Given the description of an element on the screen output the (x, y) to click on. 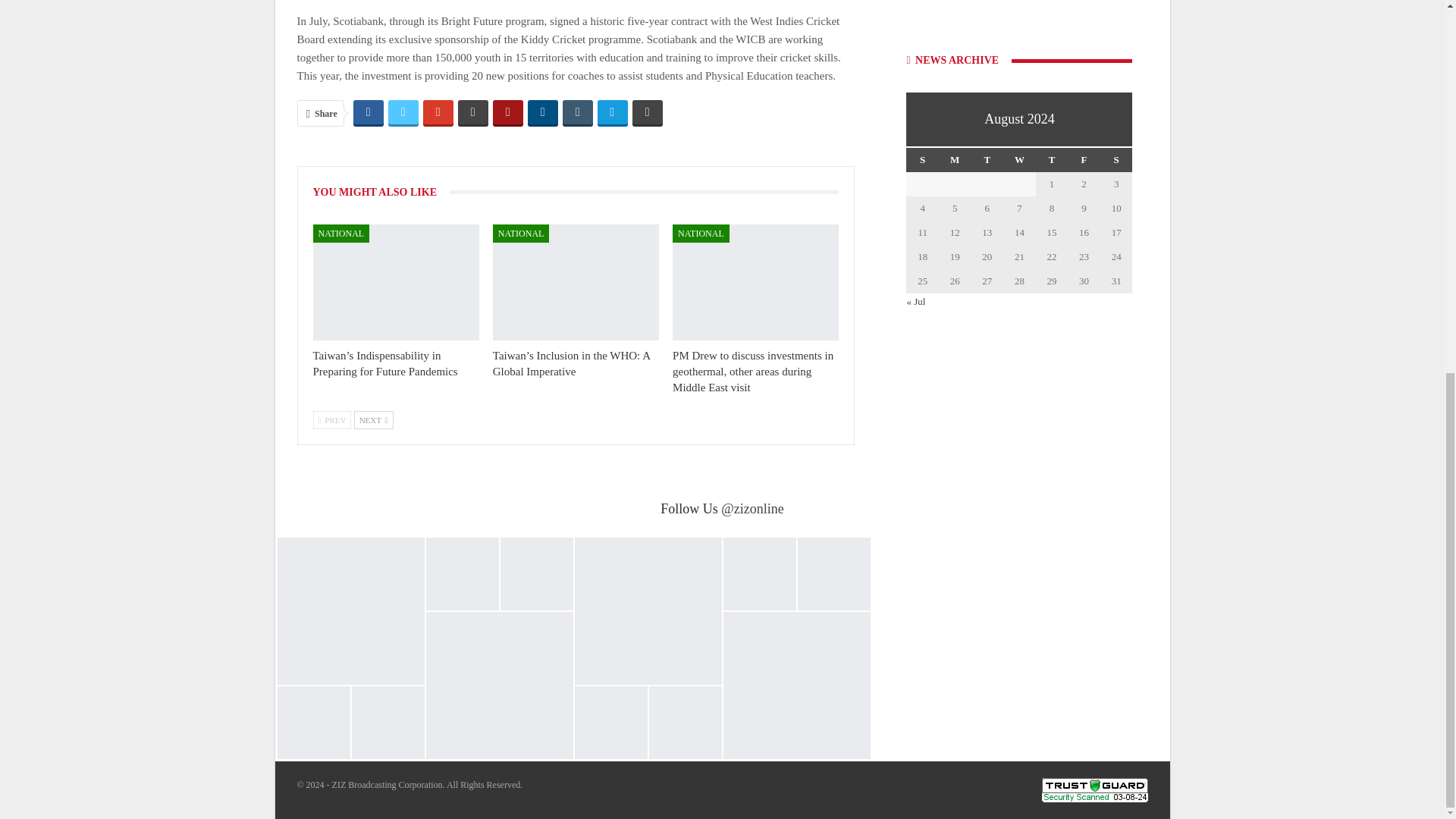
Monday (955, 159)
Next (373, 420)
Sunday (922, 159)
Previous (331, 420)
Thursday (1051, 159)
Wednesday (1019, 159)
Tuesday (987, 159)
